Given the description of an element on the screen output the (x, y) to click on. 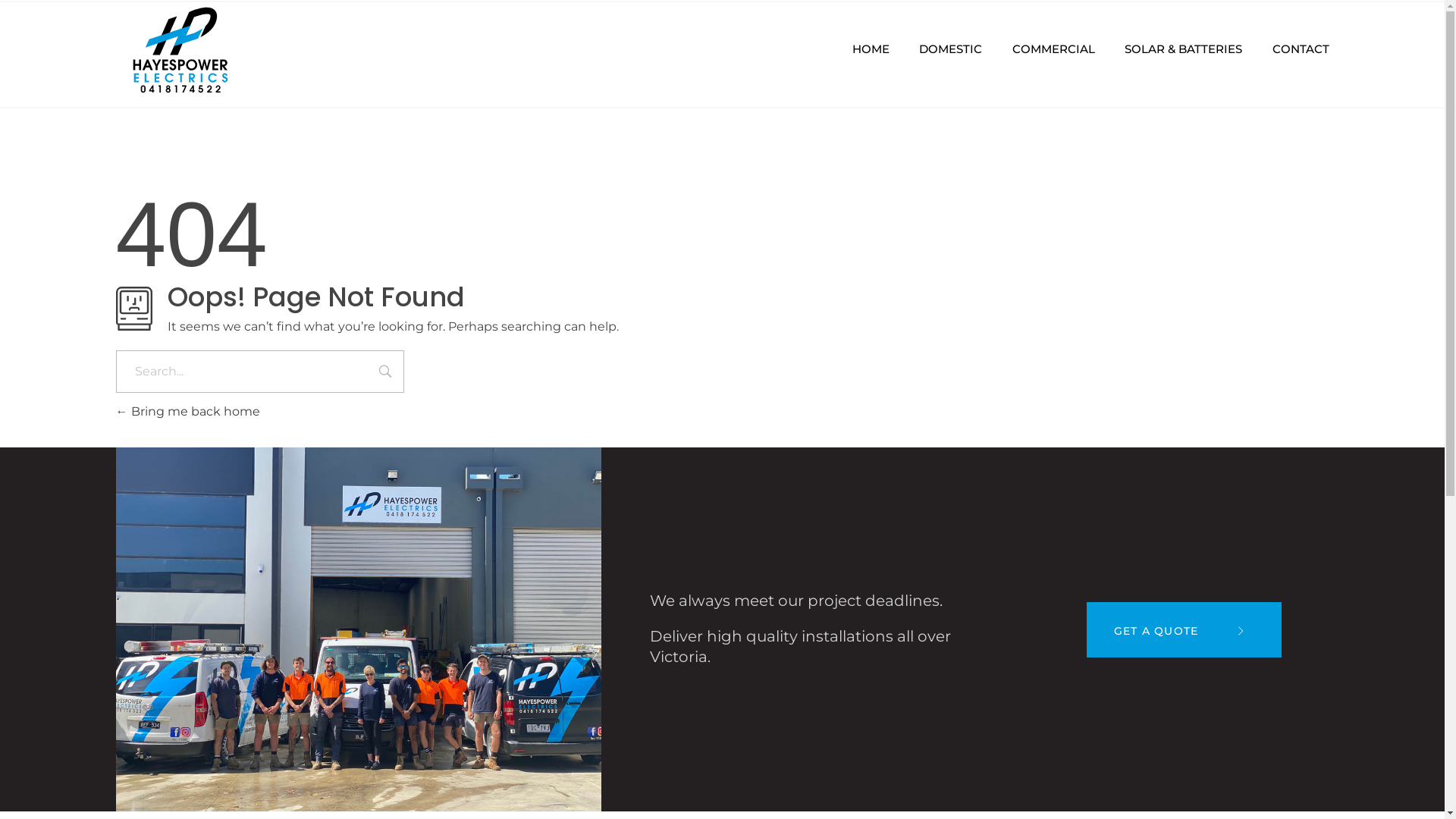
COMMERCIAL Element type: text (1053, 49)
DOMESTIC Element type: text (950, 49)
SOLAR & BATTERIES Element type: text (1182, 49)
team_01 Element type: hover (357, 629)
GET A QUOTE Element type: text (1183, 629)
HOME Element type: text (878, 49)
Search Element type: text (385, 372)
CONTACT Element type: text (1293, 49)
Bring me back home Element type: text (187, 411)
